Given the description of an element on the screen output the (x, y) to click on. 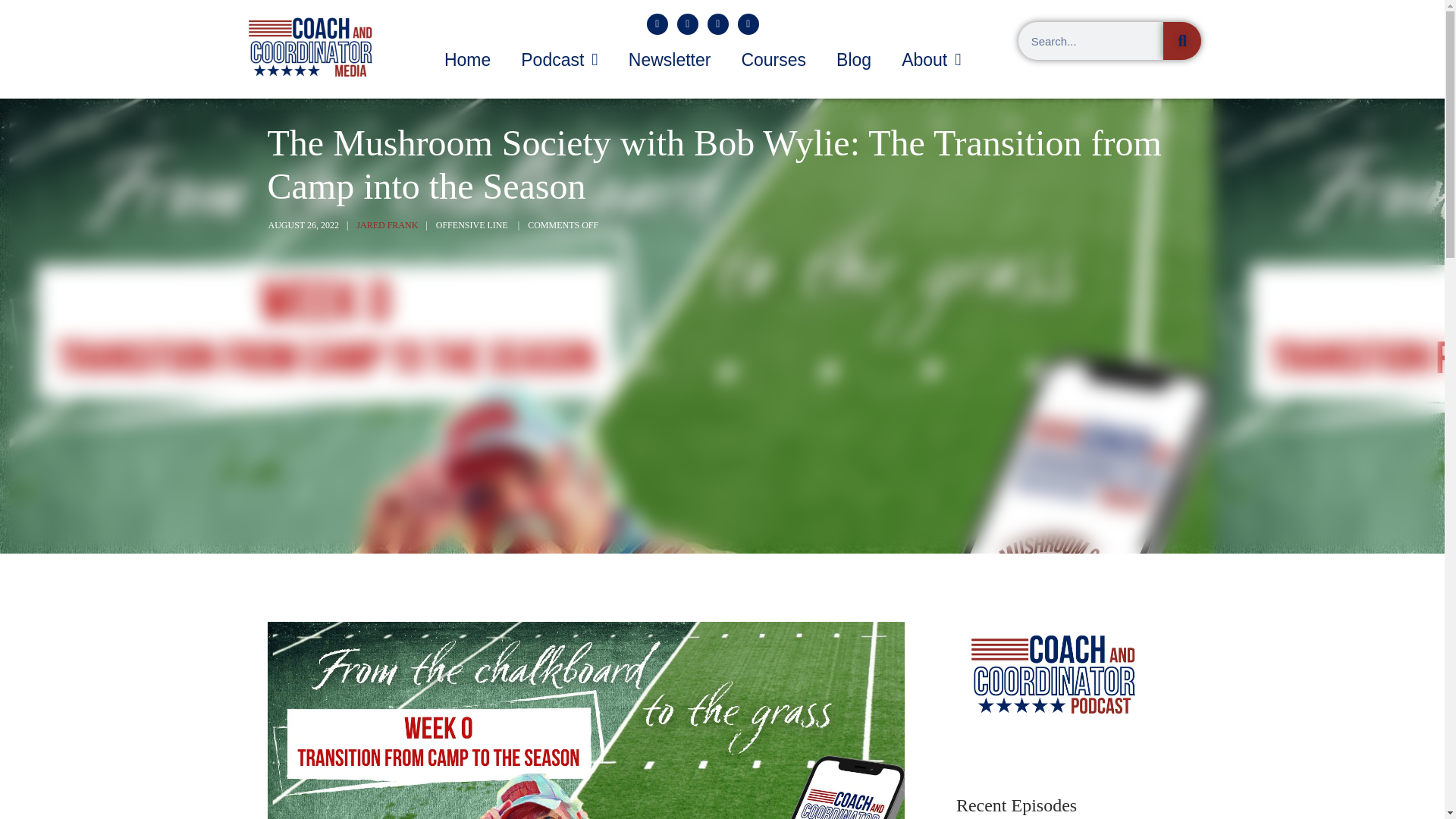
About (931, 58)
Blog (853, 58)
Newsletter (669, 58)
Home (467, 58)
Podcast (558, 58)
Courses (773, 58)
